Given the description of an element on the screen output the (x, y) to click on. 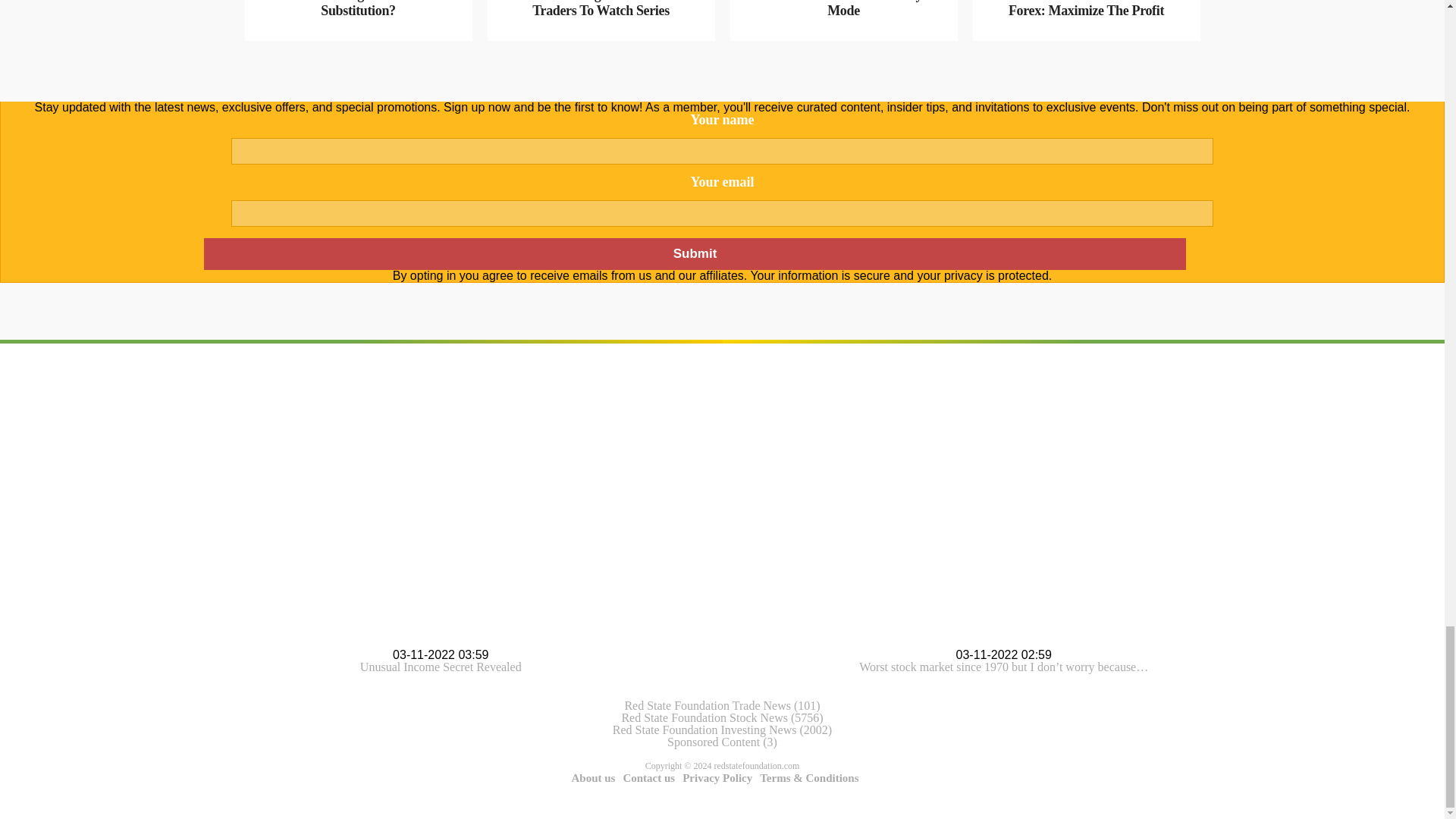
Submit (694, 254)
